Given the description of an element on the screen output the (x, y) to click on. 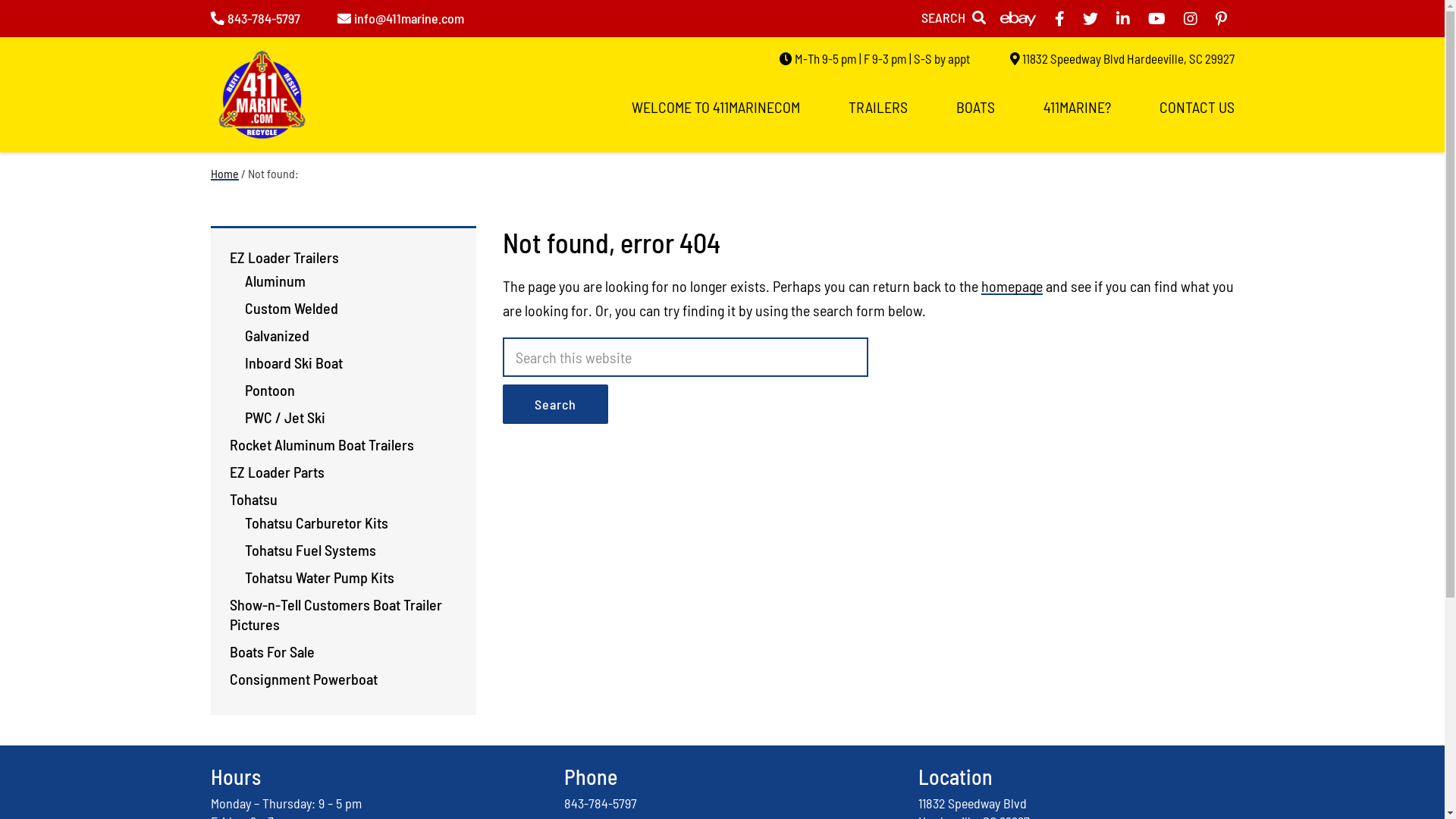
Youtube Element type: text (1156, 18)
Tohatsu Water Pump Kits Element type: text (318, 576)
843-784-5797 Element type: text (600, 802)
info@411marine.com Element type: text (399, 17)
Rocket Aluminum Boat Trailers Element type: text (321, 444)
CONTACT US Element type: text (1195, 107)
Ebay Element type: text (1017, 18)
Tohatsu Carburetor Kits Element type: text (315, 522)
Custom Welded Element type: text (290, 307)
Tohatsu Fuel Systems Element type: text (309, 549)
Consignment Powerboat Element type: text (302, 678)
PWC / Jet Ski Element type: text (284, 416)
411MARINE? Element type: text (1076, 107)
Aluminum Element type: text (274, 280)
Galvanized Element type: text (276, 335)
Inboard Ski Boat Element type: text (293, 362)
Boats For Sale Element type: text (271, 651)
BOATS Element type: text (974, 107)
Home Element type: text (224, 173)
Linkedin Element type: text (1122, 18)
Tohatsu Element type: text (252, 498)
WELCOME TO 411MARINECOM Element type: text (714, 107)
Facebook Element type: text (1058, 18)
Skip to primary navigation Element type: text (0, 0)
Instagram Element type: text (1189, 18)
Pinterest Element type: text (1220, 18)
SEARCH Element type: text (952, 17)
Pontoon Element type: text (269, 389)
Show-n-Tell Customers Boat Trailer Pictures Element type: text (335, 614)
843-784-5797 Element type: text (255, 17)
EZ Loader Trailers Element type: text (283, 256)
homepage Element type: text (1011, 285)
411Marine Element type: text (261, 100)
11832 Speedway Blvd Hardeeville, SC 29927 Element type: text (1122, 57)
Search Element type: text (554, 403)
TRAILERS Element type: text (876, 107)
EZ Loader Parts Element type: text (276, 471)
Twitter Element type: text (1090, 18)
